Given the description of an element on the screen output the (x, y) to click on. 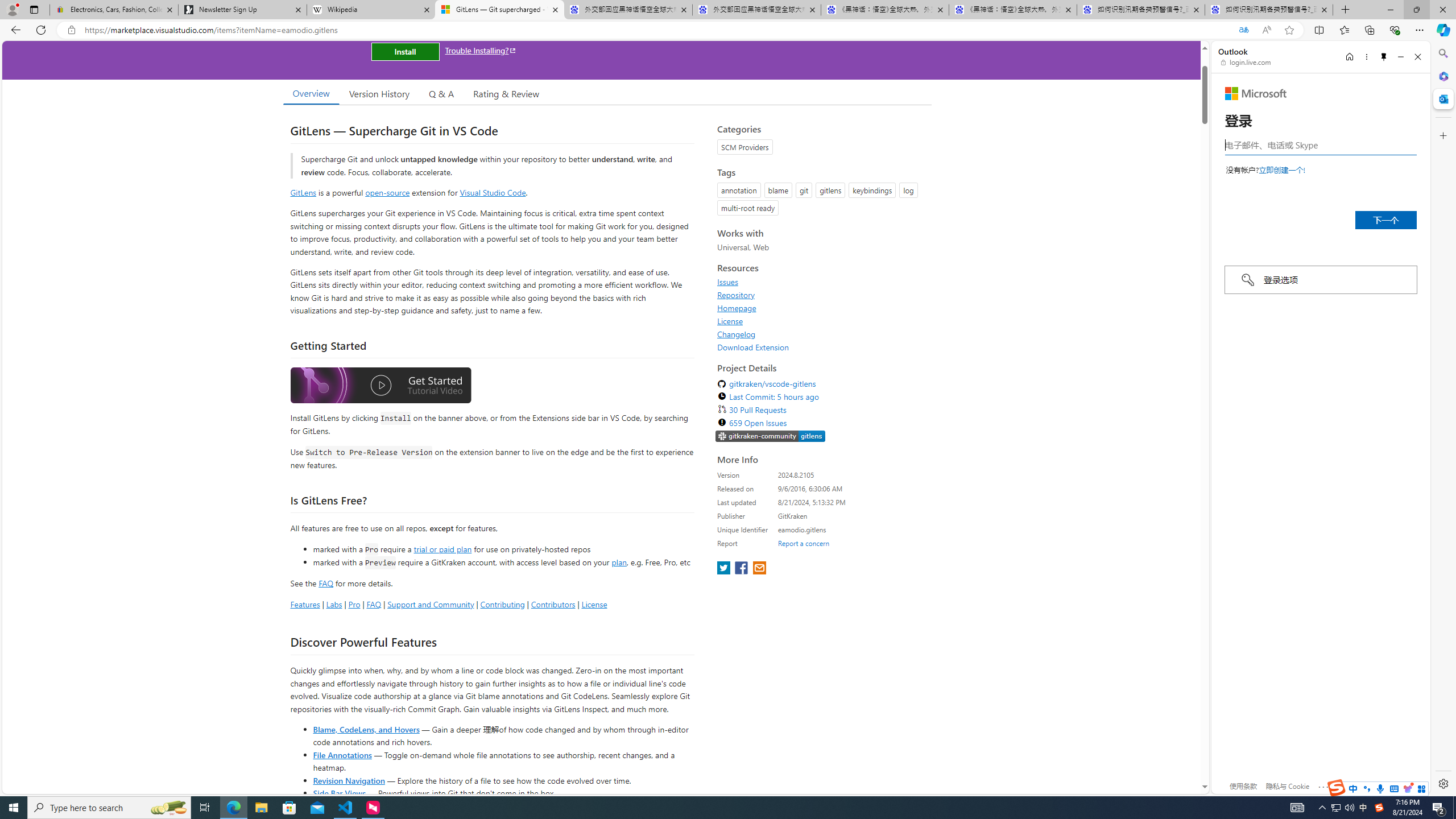
Version History (379, 92)
share extension on twitter (724, 568)
share extension on email (759, 568)
Q & A (441, 92)
Wikipedia (370, 9)
Watch the GitLens Getting Started video (380, 387)
